Given the description of an element on the screen output the (x, y) to click on. 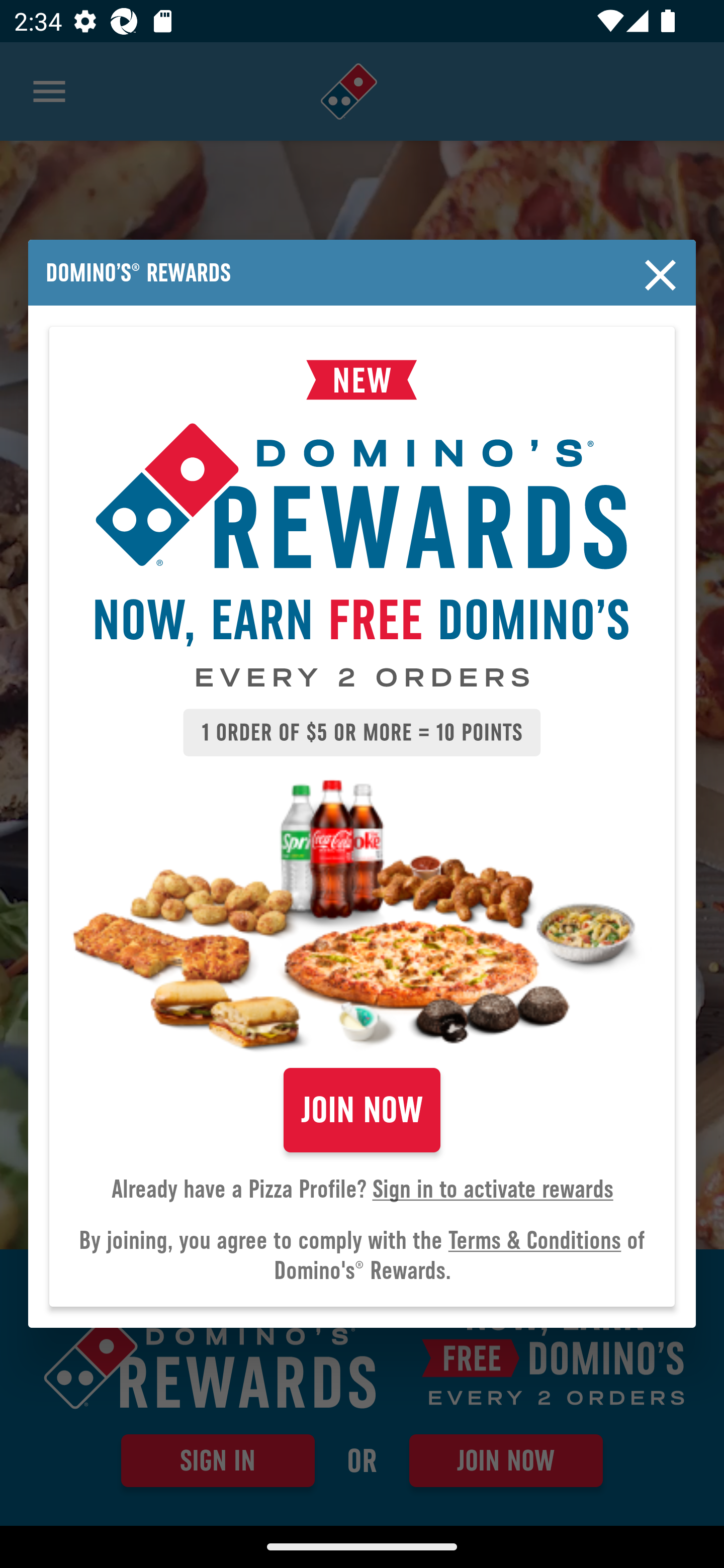
Close (660, 275)
JOIN NOW (361, 1109)
